Given the description of an element on the screen output the (x, y) to click on. 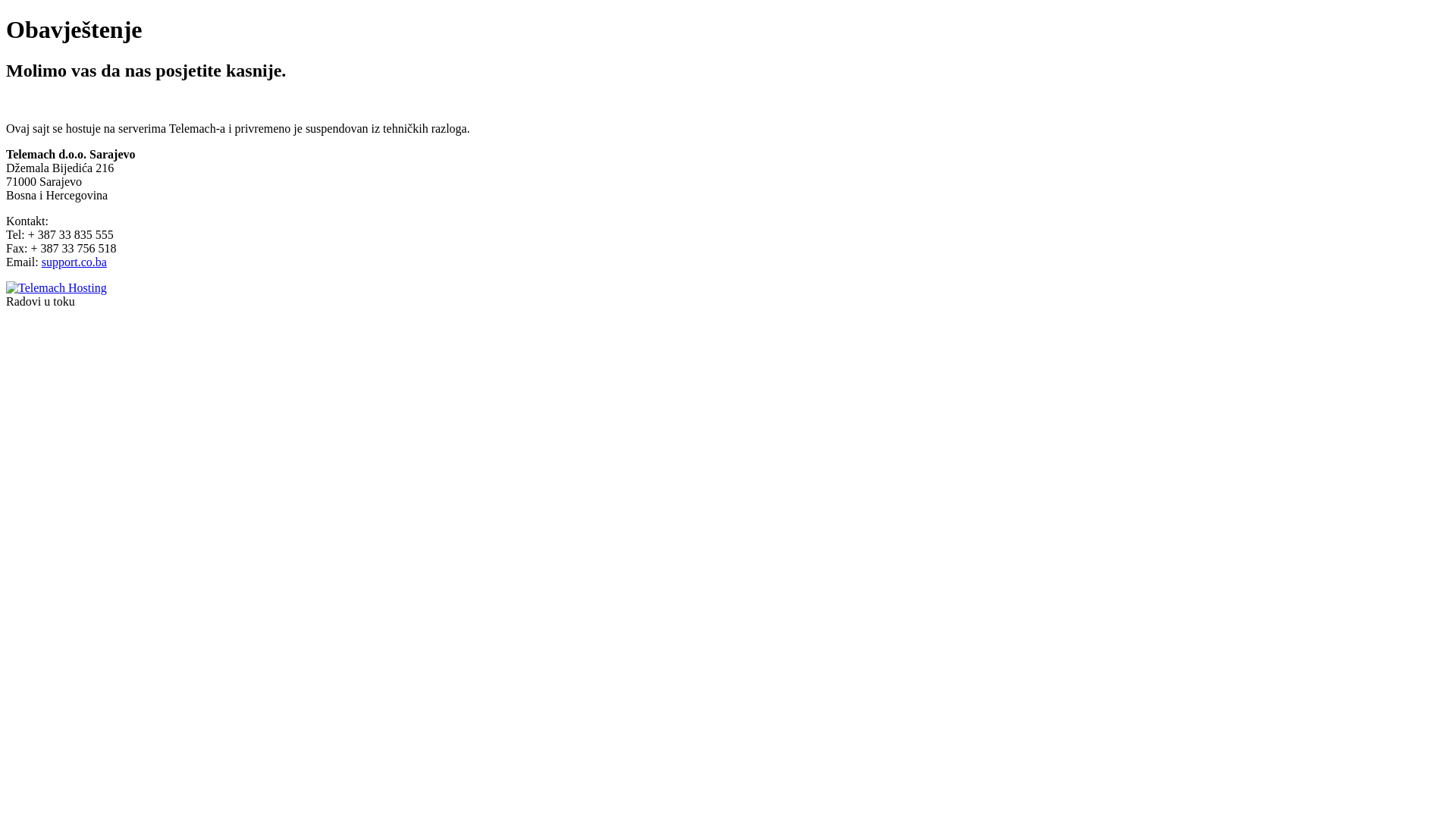
support.co.ba Element type: text (73, 261)
